Given the description of an element on the screen output the (x, y) to click on. 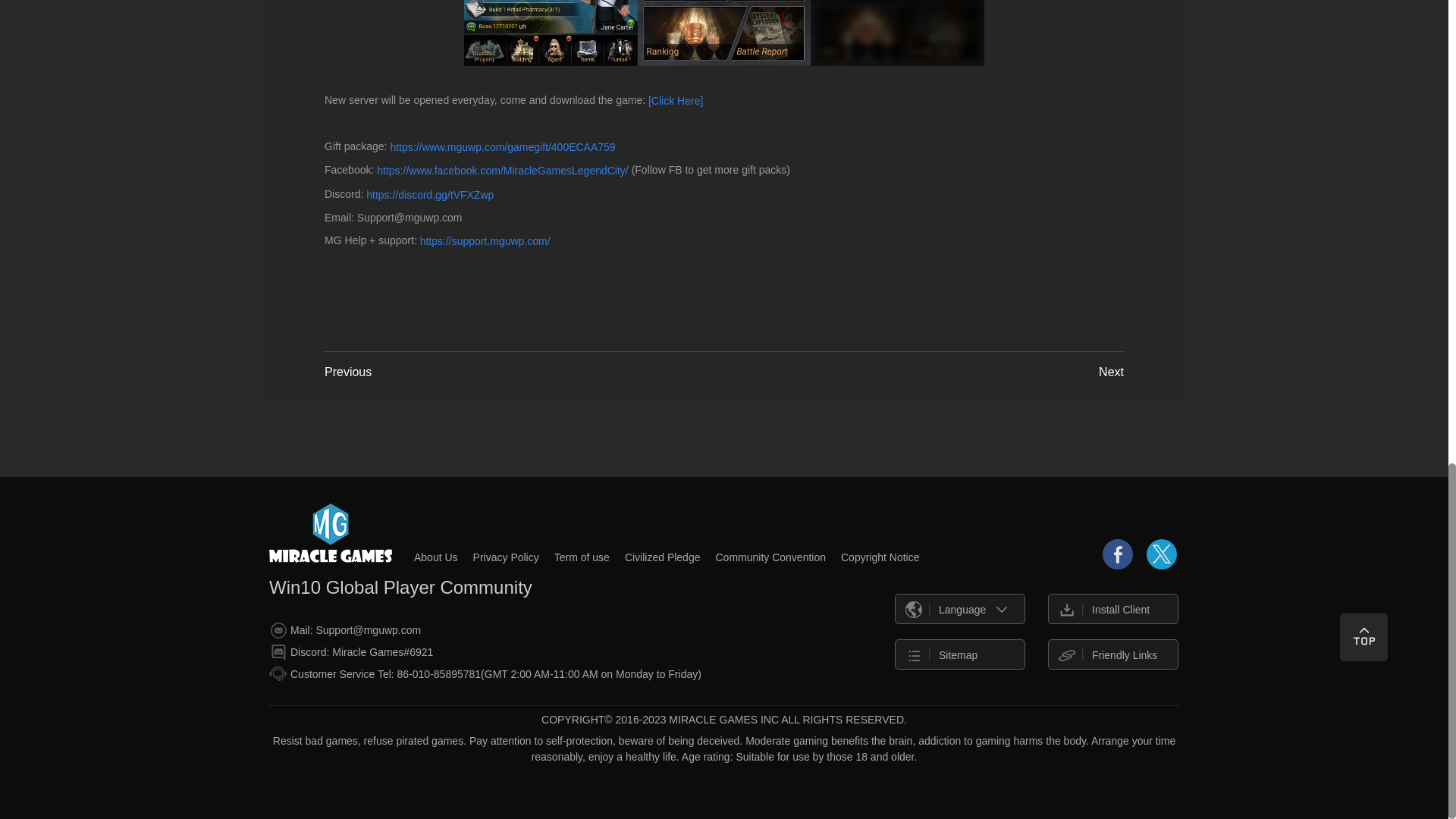
Previous (347, 372)
